Given the description of an element on the screen output the (x, y) to click on. 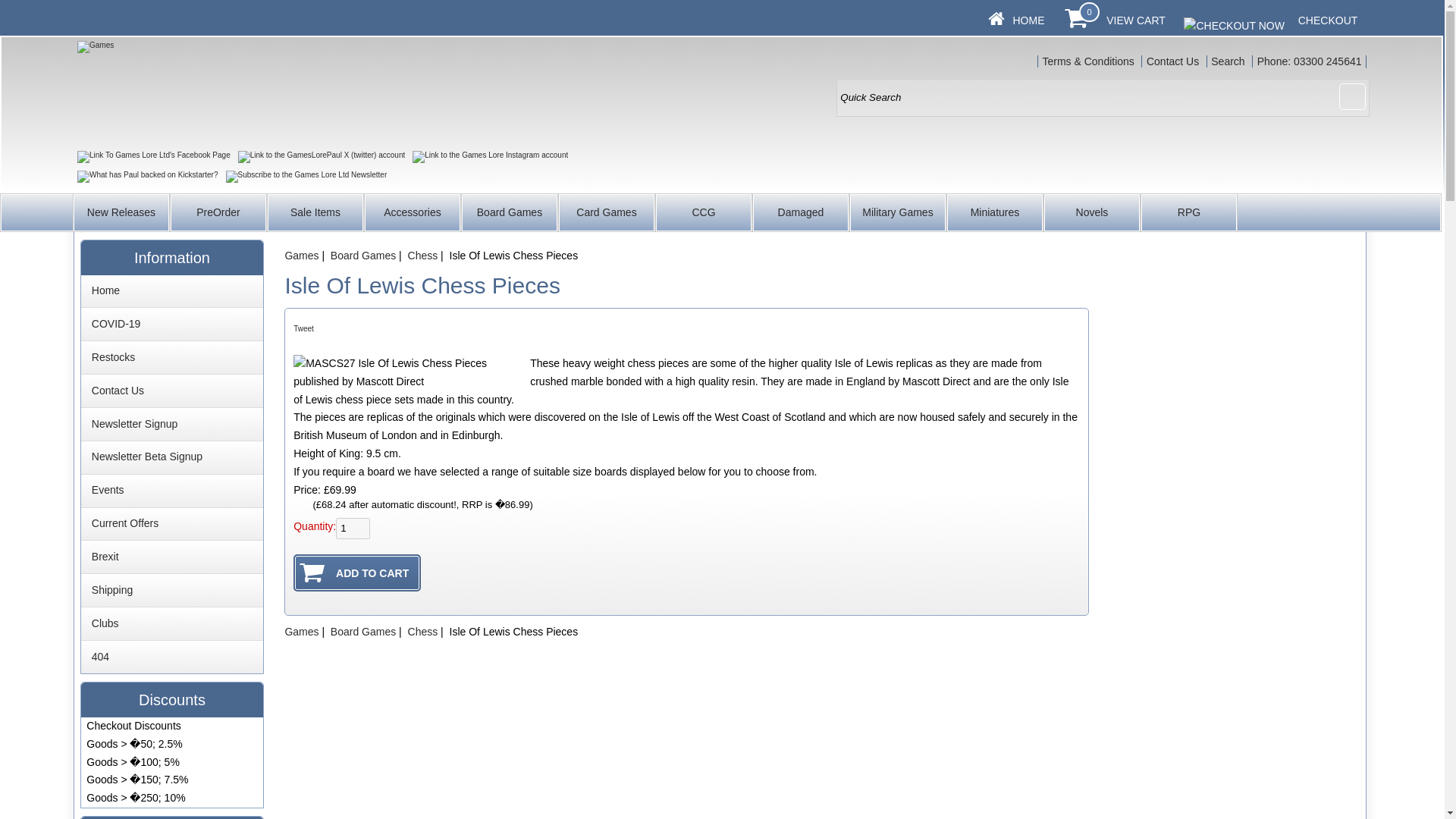
New Releases (121, 212)
1 (352, 527)
Go! (1352, 96)
Subscribe to the Games Lore Ltd Newsletter (306, 176)
Games Lore Ltd Games (281, 91)
Link to the Games Lore Instagram account (489, 156)
CHECKOUT (1328, 20)
Go! (1352, 96)
Add To Cart (357, 572)
Phone: 03300 245641 (1309, 61)
VIEW CART (1135, 20)
What has Paul backed on Kickstarter? (147, 176)
Quick Search (1102, 97)
HOME (1027, 20)
Contact Us (1172, 61)
